Given the description of an element on the screen output the (x, y) to click on. 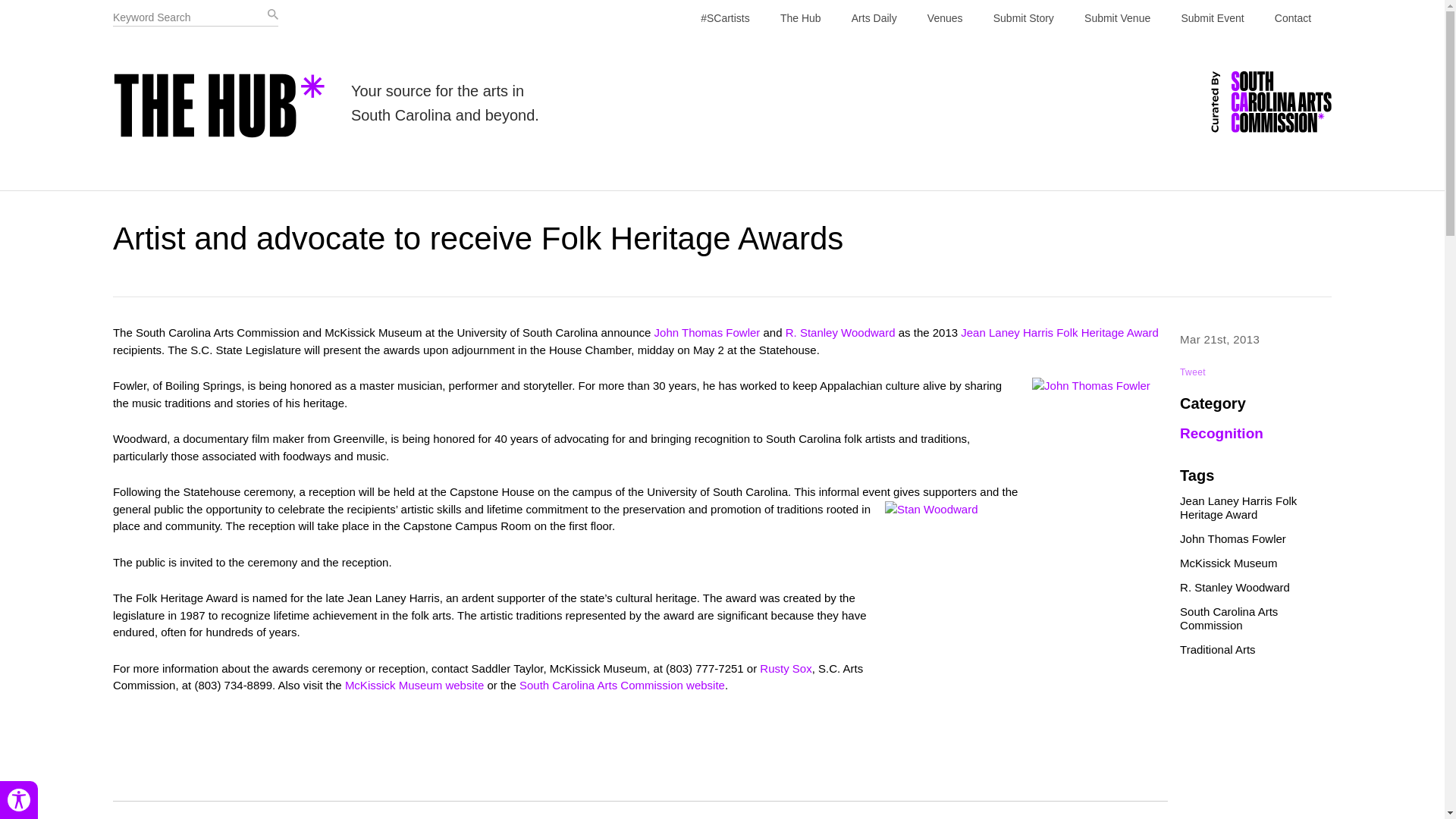
R. Stanley Woodward (1234, 586)
Tweet (1192, 371)
R. Stanley Woodward (840, 332)
Recognition (1221, 433)
Contact (1292, 18)
McKissick Museum (1227, 562)
South Carolina Arts Commission (1228, 618)
John Thomas Fowler (706, 332)
Venues (944, 18)
Submit Story (1024, 18)
Arts Daily (874, 18)
The Hub (800, 18)
Rusty Sox (785, 667)
Submit Event (1211, 18)
South Carolina Arts Commission website (622, 684)
